Given the description of an element on the screen output the (x, y) to click on. 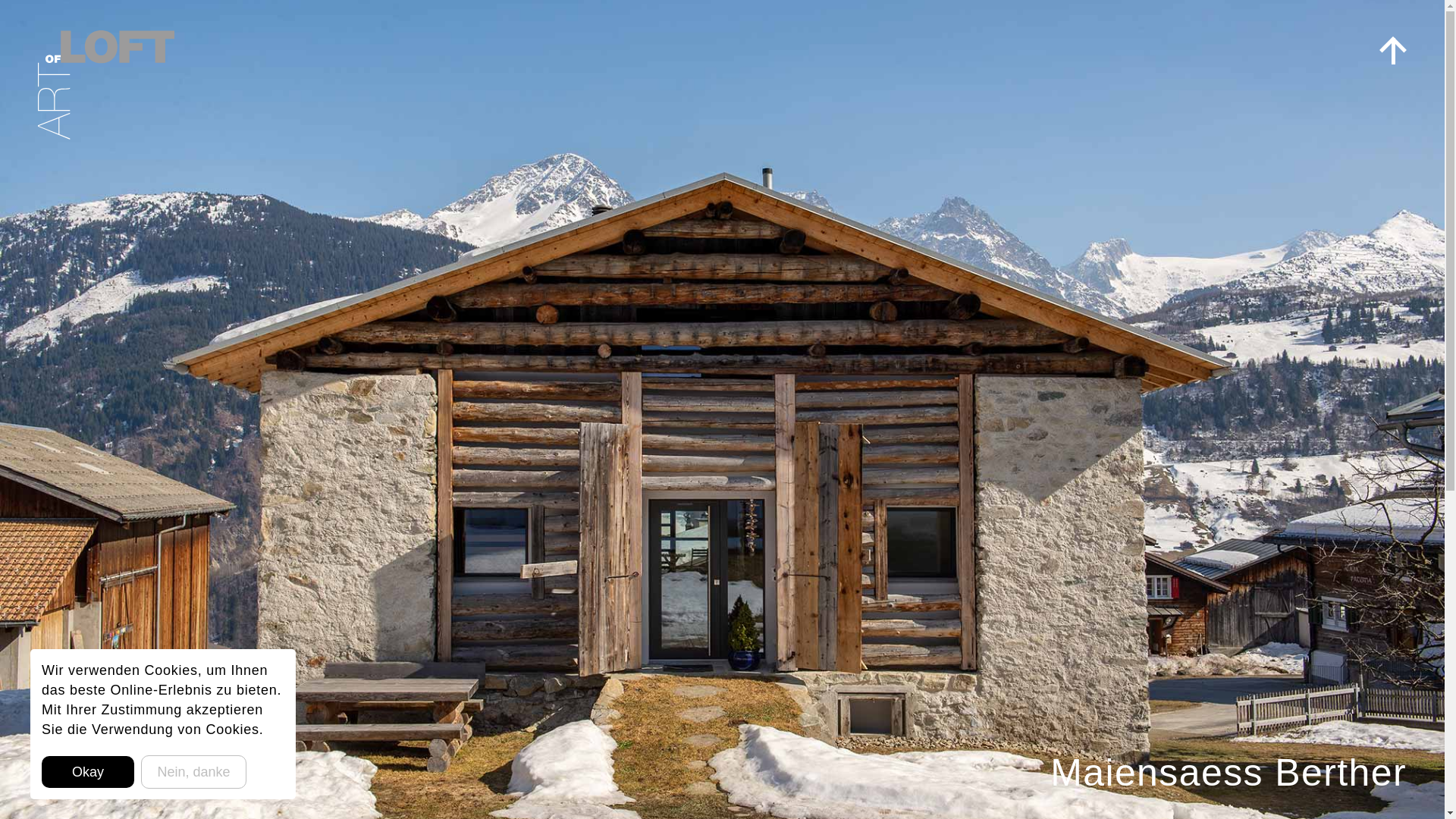
Okay Element type: text (87, 771)
Nein, danke Element type: text (193, 772)
